Given the description of an element on the screen output the (x, y) to click on. 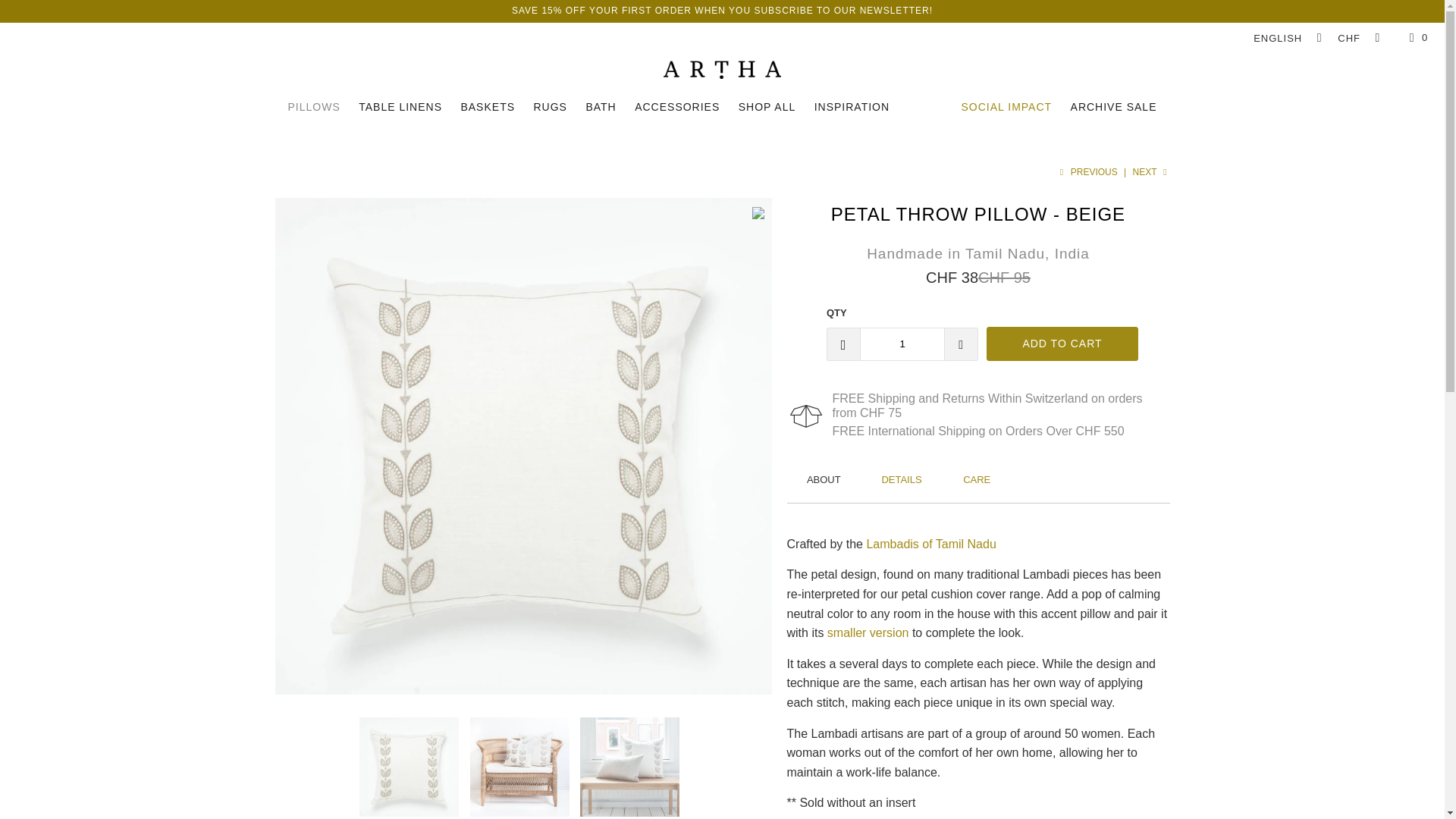
Previous (1086, 172)
Artha Collections (721, 70)
Next (1151, 172)
1 (902, 344)
